Given the description of an element on the screen output the (x, y) to click on. 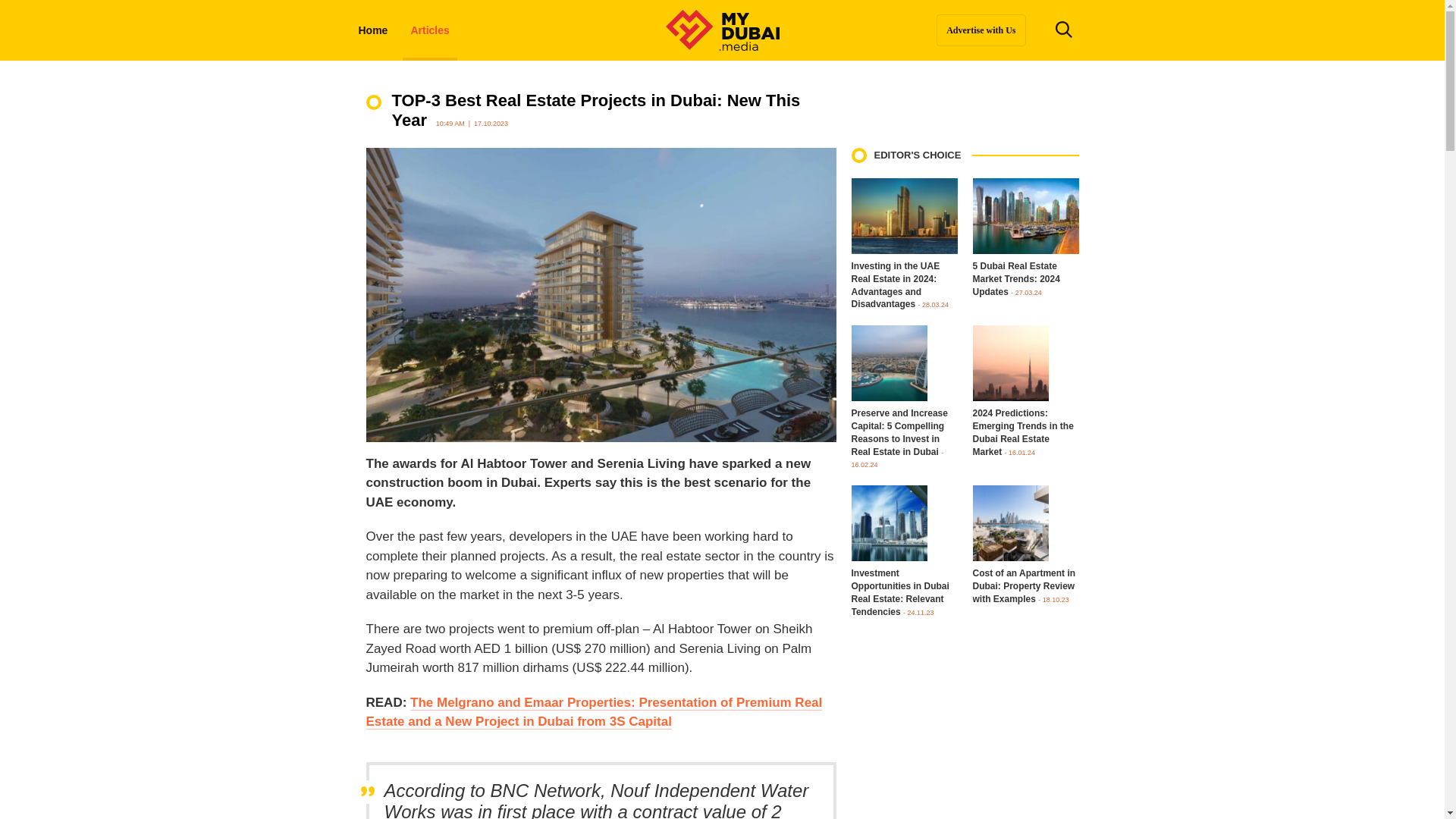
5 Dubai Real Estate Market Trends: 2024 Updates (1015, 279)
Articles (429, 30)
Cost of an Apartment in Dubai: Property Review with Examples (1023, 586)
Advertisement (964, 746)
Advertise with Us (980, 29)
